Given the description of an element on the screen output the (x, y) to click on. 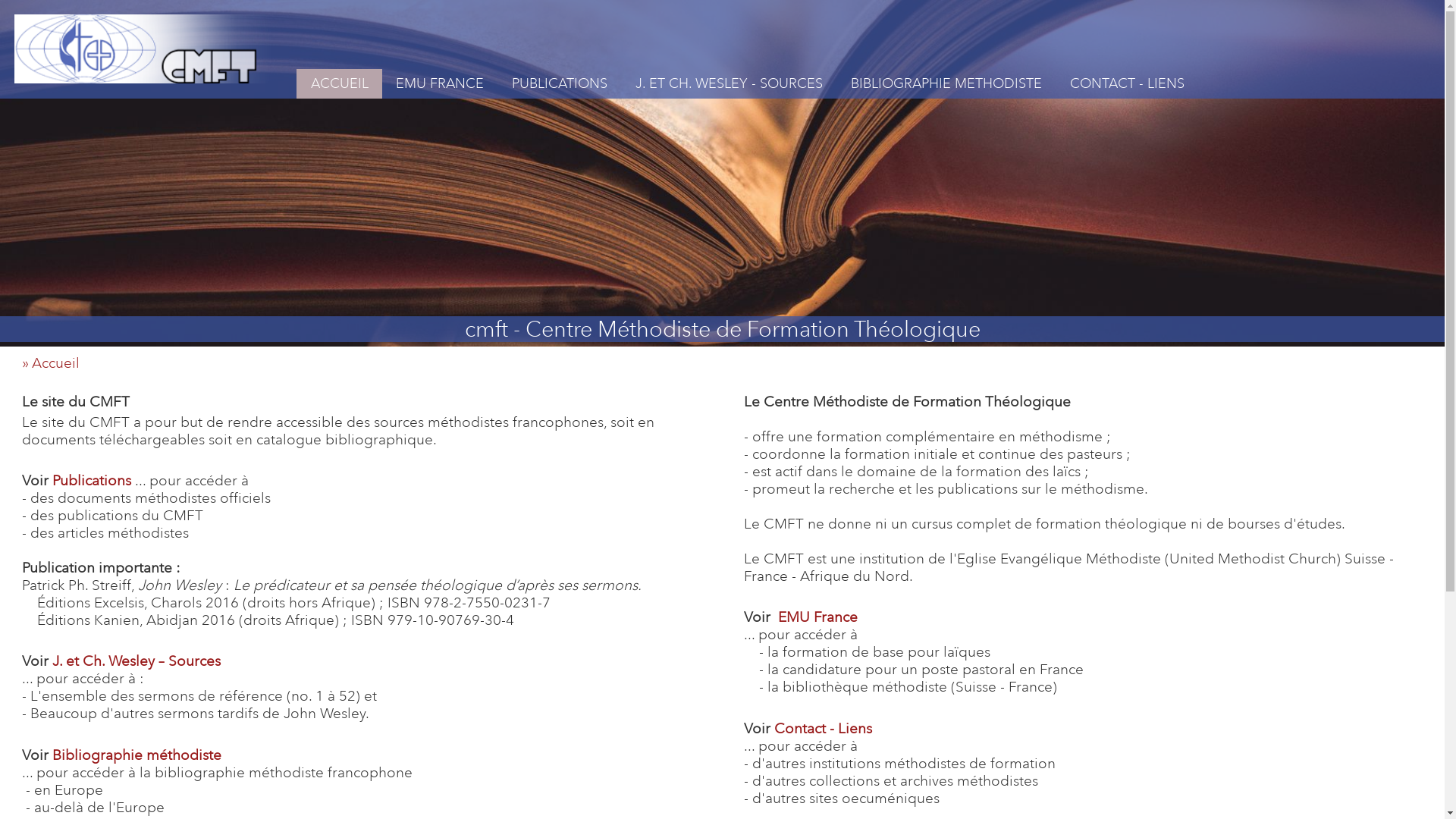
EMU FRANCE Element type: text (439, 83)
EMU France Element type: text (817, 616)
Anmelden Element type: text (707, 233)
Contact - Liens Element type: text (823, 728)
Publications Element type: text (91, 480)
ACCUEIL Element type: text (339, 83)
BIBLIOGRAPHIE METHODISTE Element type: text (945, 83)
J. ET CH. WESLEY - SOURCES Element type: text (728, 83)
CONTACT - LIENS Element type: text (1127, 83)
PUBLICATIONS Element type: text (559, 83)
